Given the description of an element on the screen output the (x, y) to click on. 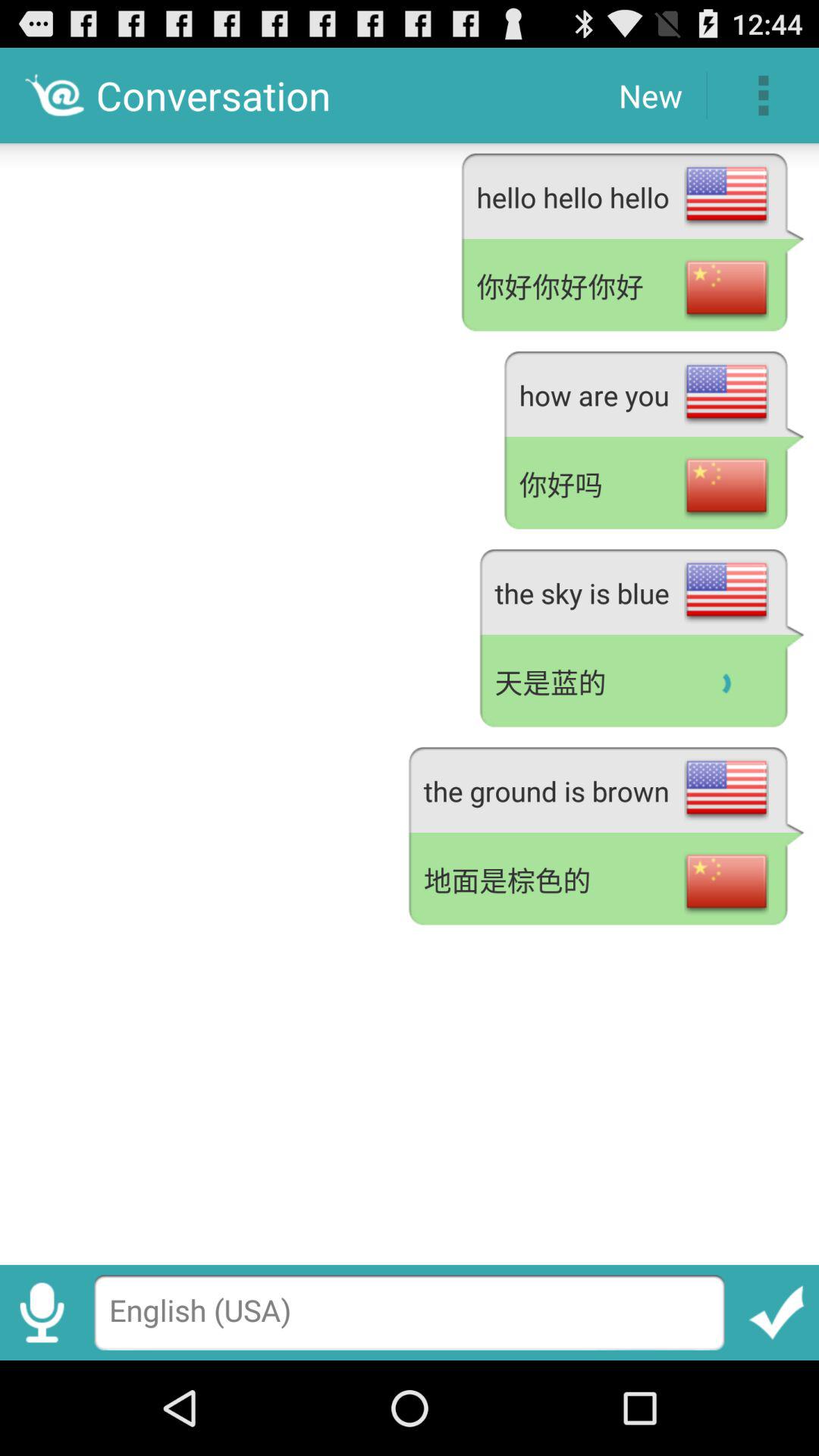
launch icon next to the new icon (763, 95)
